Given the description of an element on the screen output the (x, y) to click on. 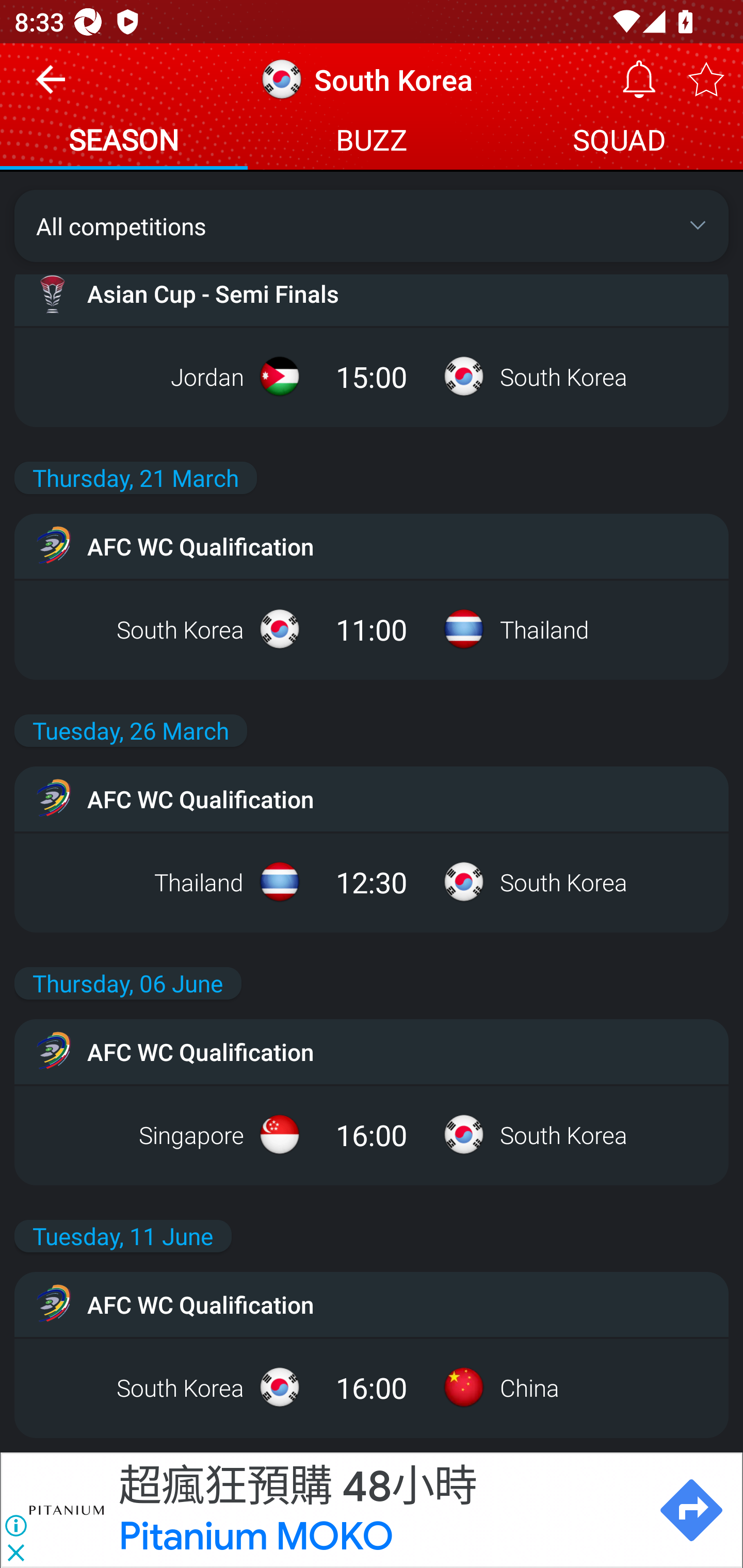
Navigate up (50, 86)
SEASON (123, 142)
BUZZ (371, 142)
SQUAD (619, 142)
All competitions (371, 225)
Asian Cup - Semi Finals (371, 293)
Jordan 15:00 South Korea (371, 376)
AFC WC Qualification (371, 546)
South Korea 11:00 Thailand (371, 629)
AFC WC Qualification (371, 798)
Thailand 12:30 South Korea (371, 881)
AFC WC Qualification (371, 1051)
Singapore 16:00 South Korea (371, 1134)
AFC WC Qualification (371, 1304)
South Korea 16:00 China (371, 1387)
超瘋狂預購 48小時 Pitanium MOKO 超瘋狂預購 48小時 Pitanium MOKO (379, 1509)
